Given the description of an element on the screen output the (x, y) to click on. 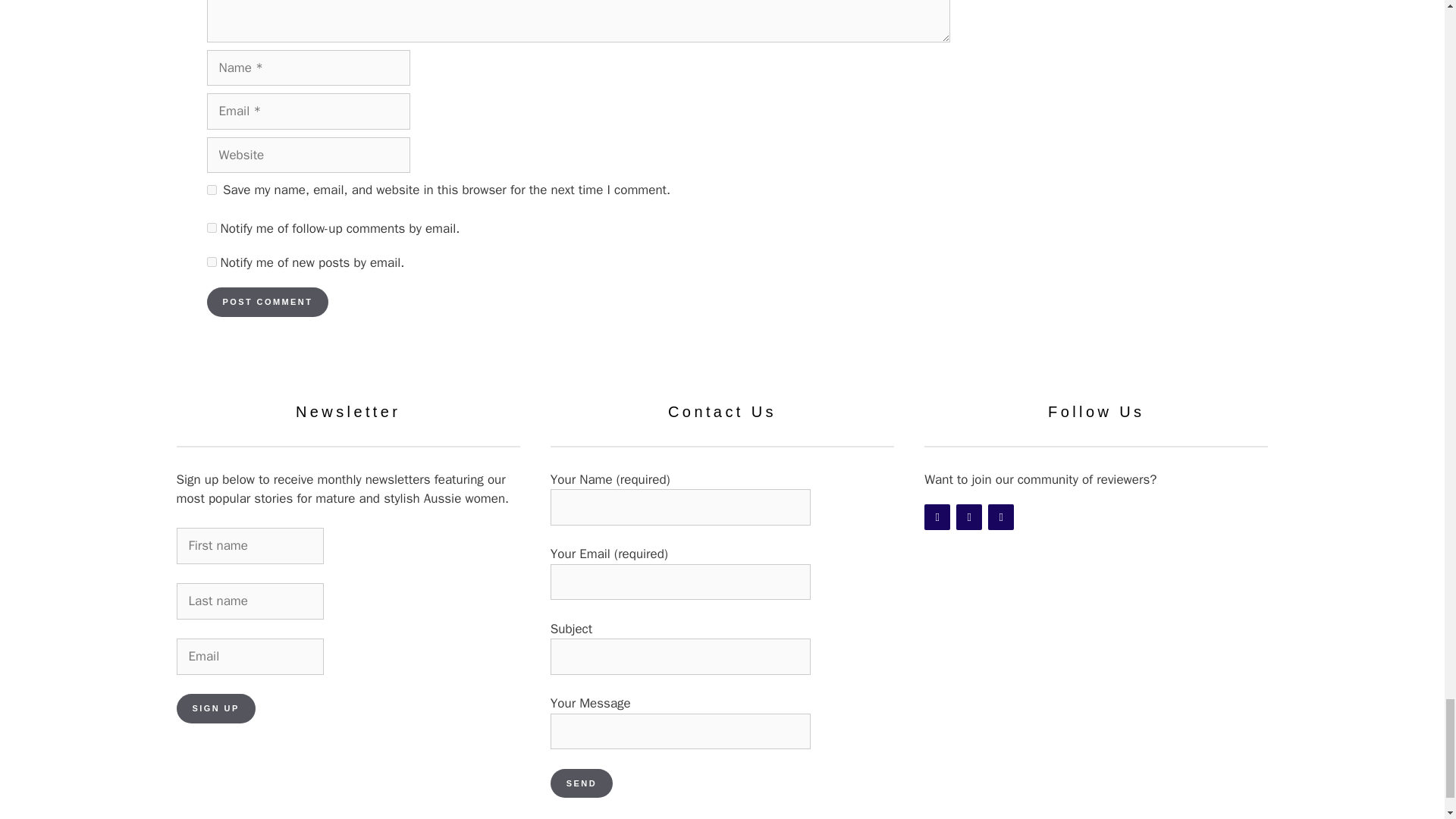
Sign up (215, 708)
subscribe (210, 261)
Instagram (968, 516)
Post Comment (267, 301)
yes (210, 189)
subscribe (210, 227)
Pinterest (1000, 516)
Post Comment (267, 301)
Facebook (937, 516)
